Given the description of an element on the screen output the (x, y) to click on. 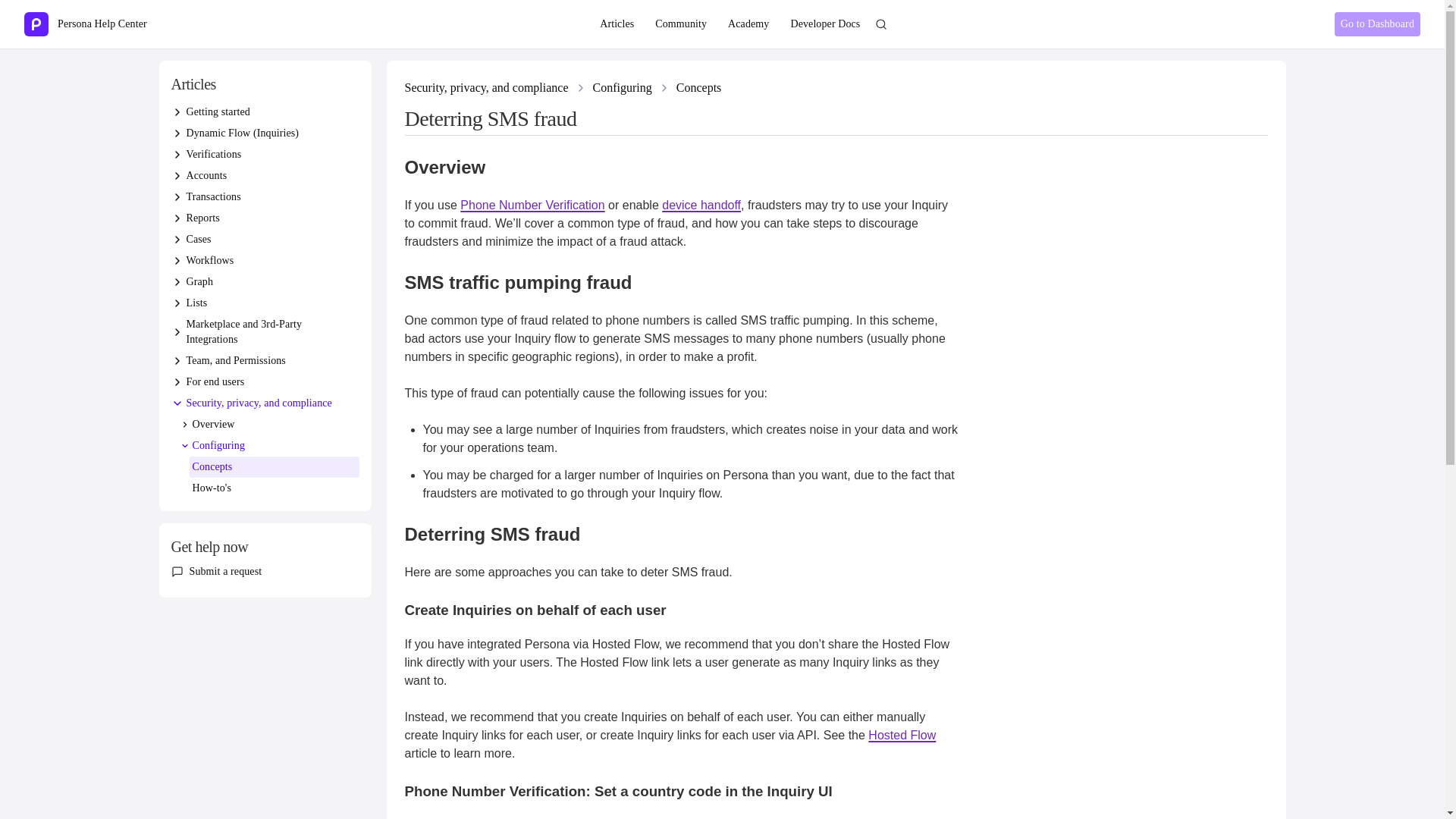
device handoff (701, 205)
ChevronRightIcon (177, 111)
Developer Docs (825, 24)
Submit a request (225, 571)
Academy (748, 24)
ChevronRightIcon (177, 331)
ChevronRightIcon (177, 154)
Concepts (699, 87)
ChevronRightIcon (580, 87)
ChevronRightIcon (177, 260)
ChevronRightIcon (177, 133)
Articles (617, 24)
ChevronRightIcon (177, 218)
ChevronRightIcon (184, 424)
Security, privacy, and compliance (486, 87)
